Given the description of an element on the screen output the (x, y) to click on. 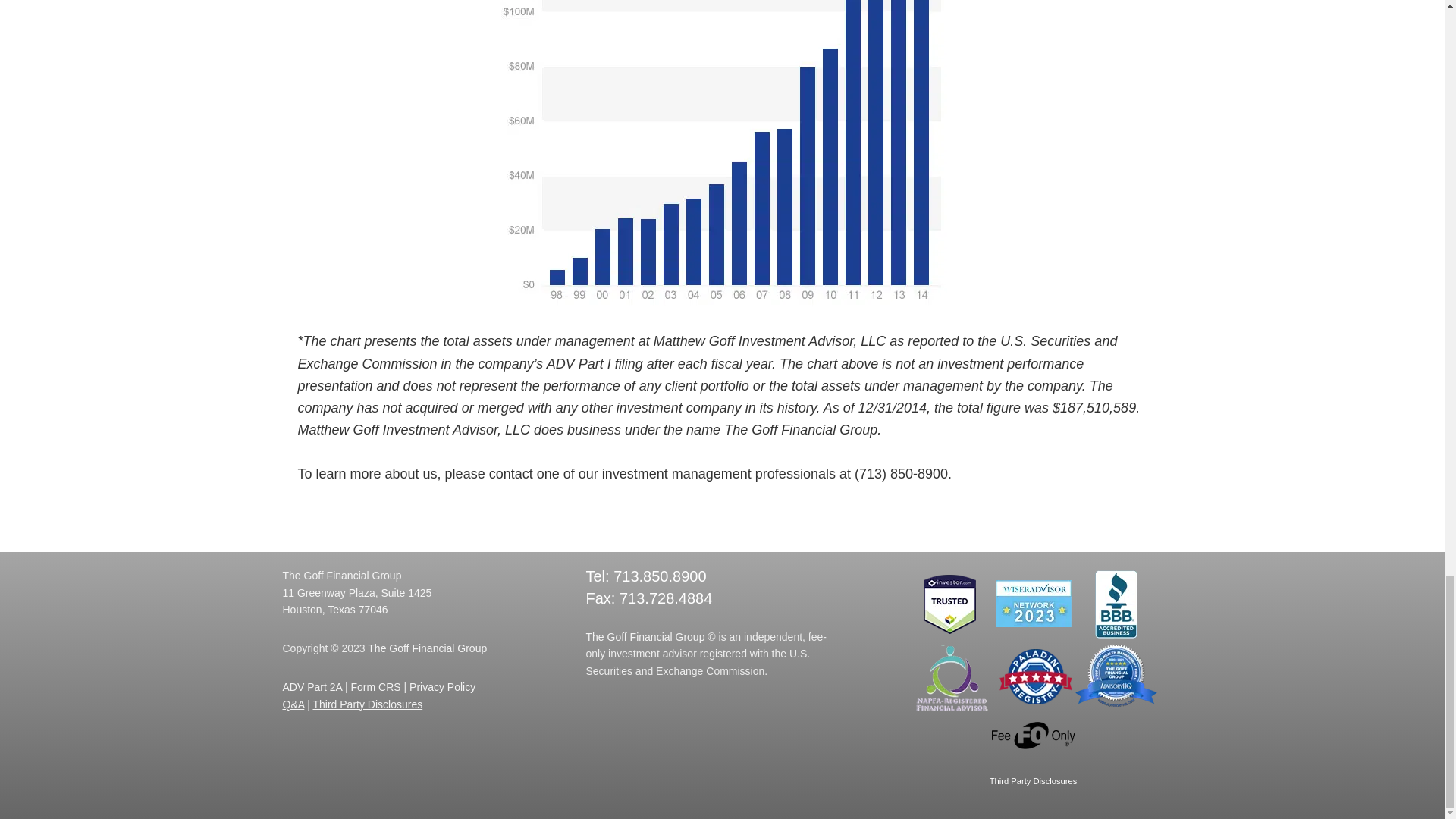
The Goff Financial Group (427, 648)
The Goff Financial Group (341, 575)
ADV Part 2A (312, 686)
Privacy Policy (442, 686)
Form CRS (356, 601)
